Given the description of an element on the screen output the (x, y) to click on. 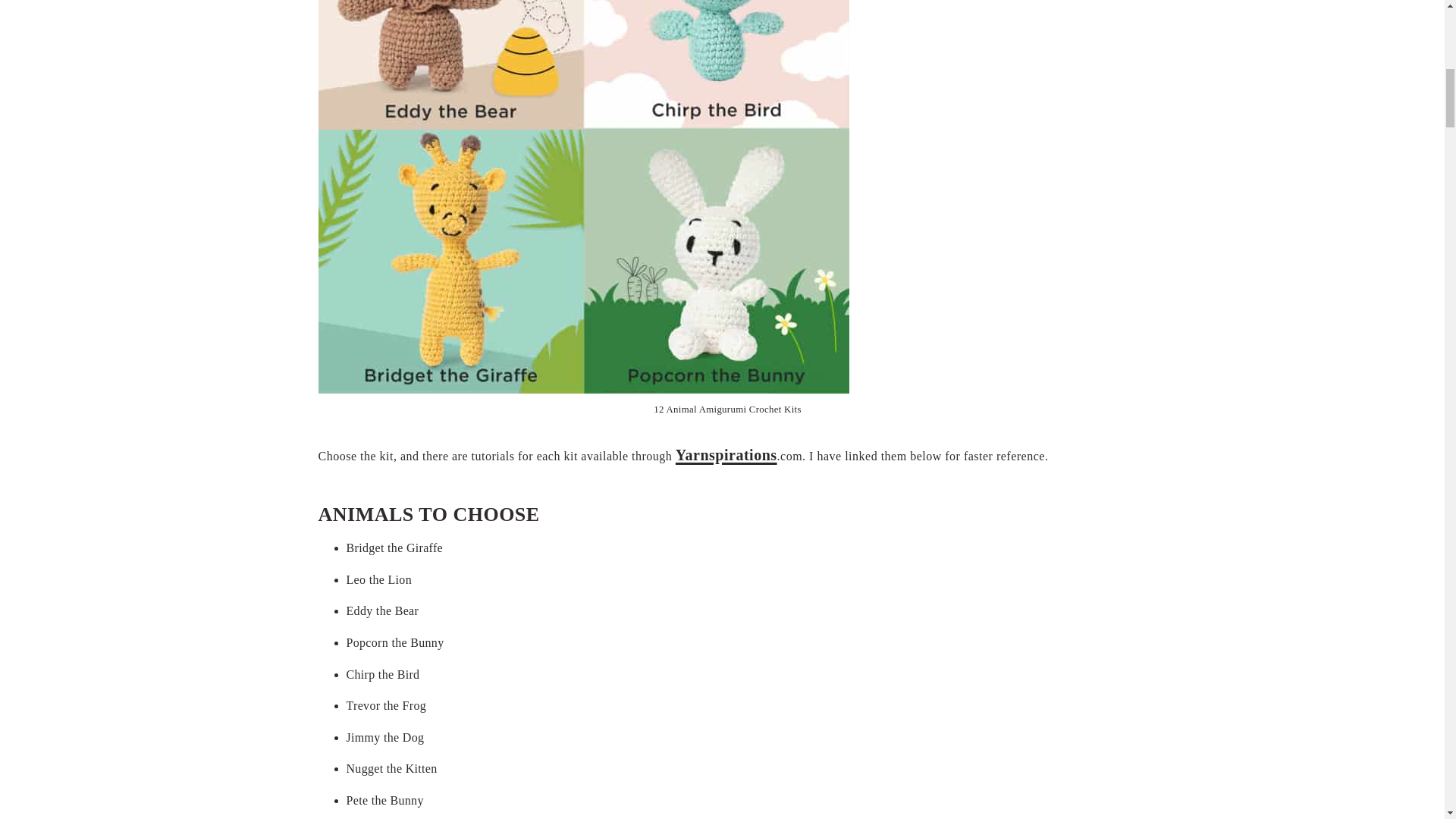
Yarnspirations (726, 454)
